Given the description of an element on the screen output the (x, y) to click on. 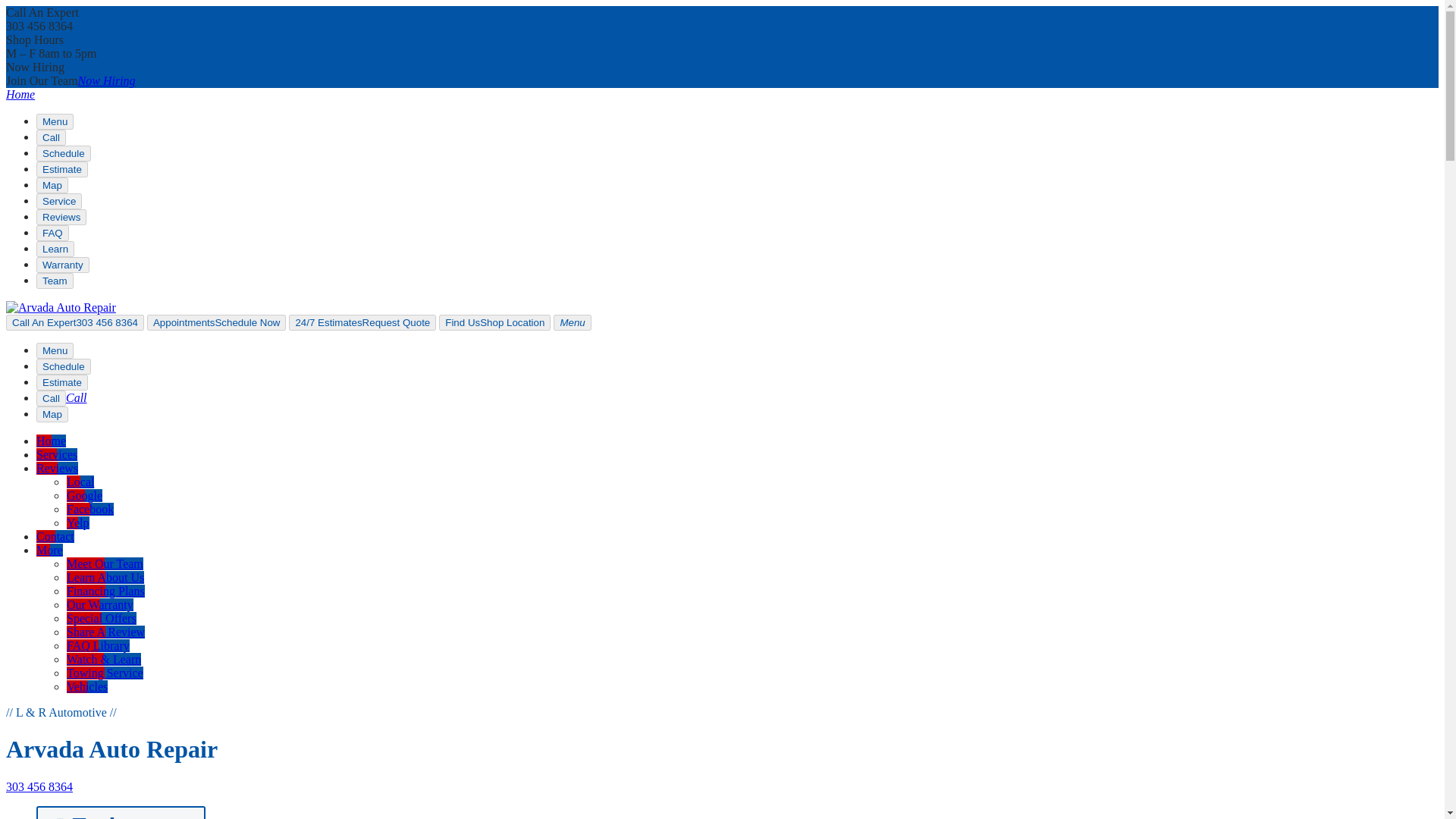
Meet Our Team (104, 563)
Facebook (89, 508)
Team (55, 280)
Services (56, 454)
Join Our Team (106, 80)
Home (19, 93)
Call (76, 397)
Menu (55, 121)
Call An Expert303 456 8364 (74, 322)
Estimate (61, 382)
Contact (55, 535)
FAQ (52, 232)
Special Offers (101, 617)
Call (50, 398)
Map (52, 185)
